Given the description of an element on the screen output the (x, y) to click on. 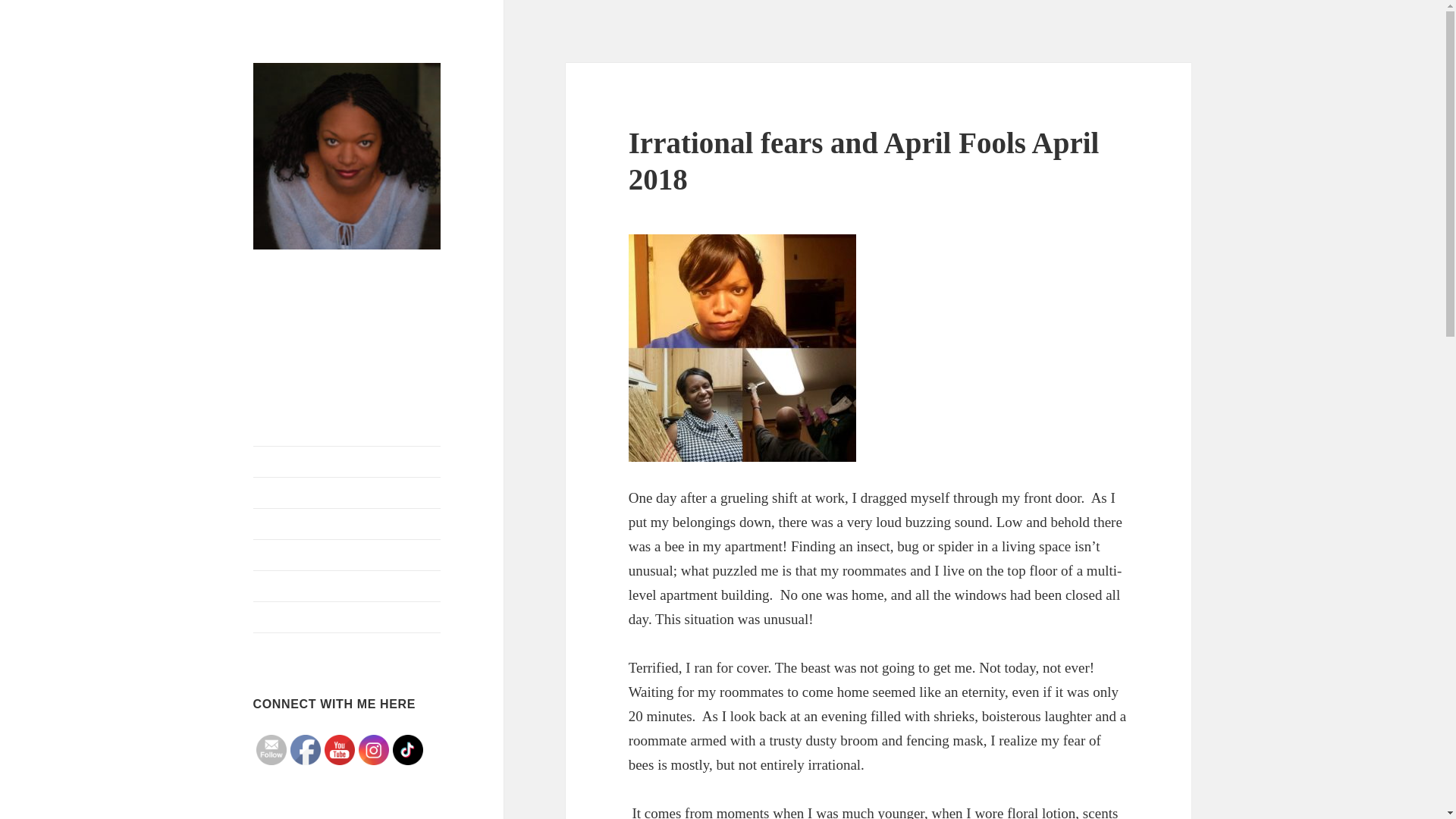
Blog (347, 492)
Resources (347, 616)
Home (347, 461)
Follow by Email (271, 749)
Books (347, 523)
Denise Tapscott (331, 273)
Instagram (373, 749)
About (347, 554)
Facebook (304, 749)
